Given the description of an element on the screen output the (x, y) to click on. 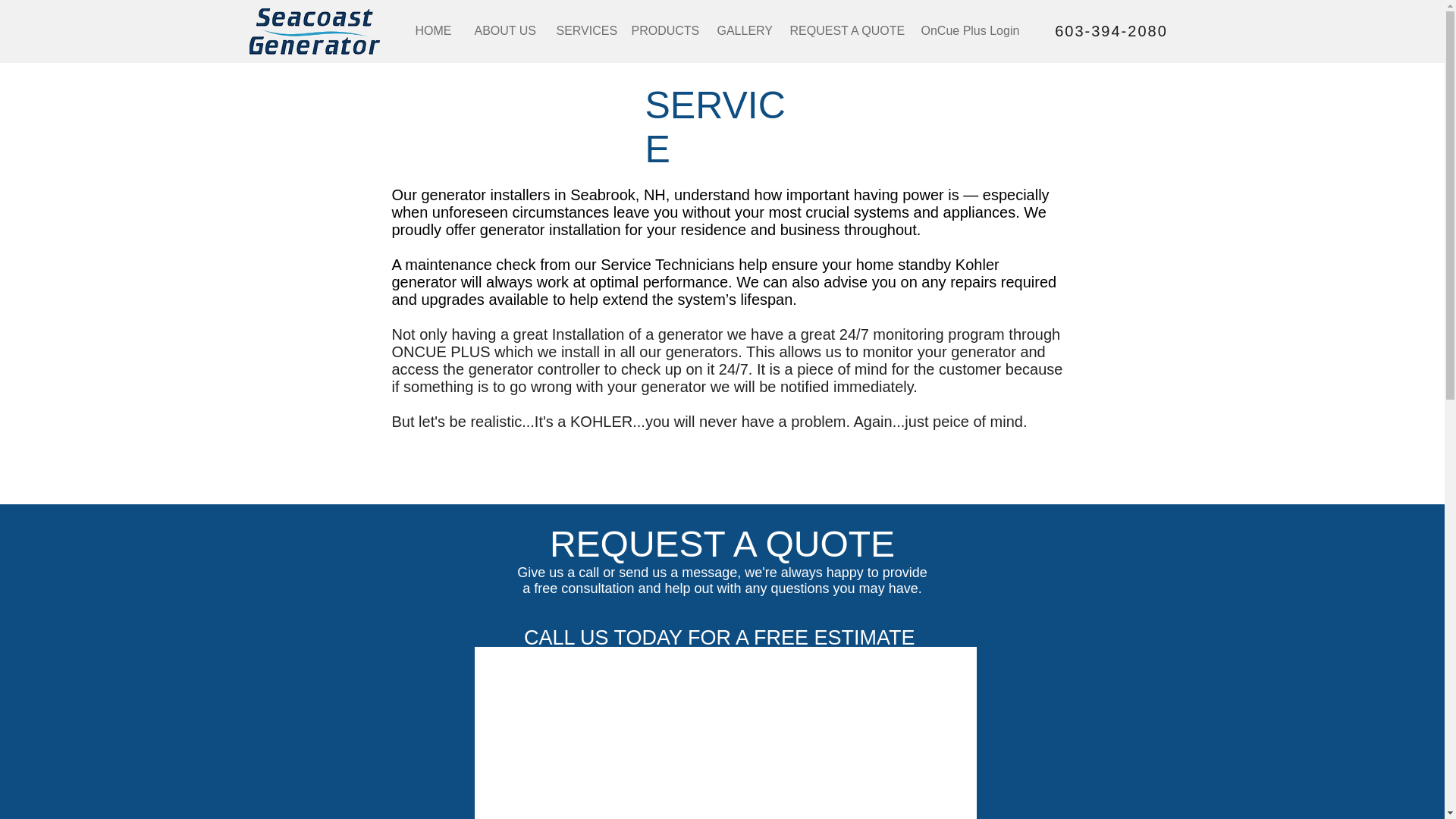
PRODUCTS (663, 30)
HOME (433, 30)
GALLERY (740, 30)
OnCue Plus Login (970, 30)
REQUEST A QUOTE (842, 30)
ABOUT US (503, 30)
